Given the description of an element on the screen output the (x, y) to click on. 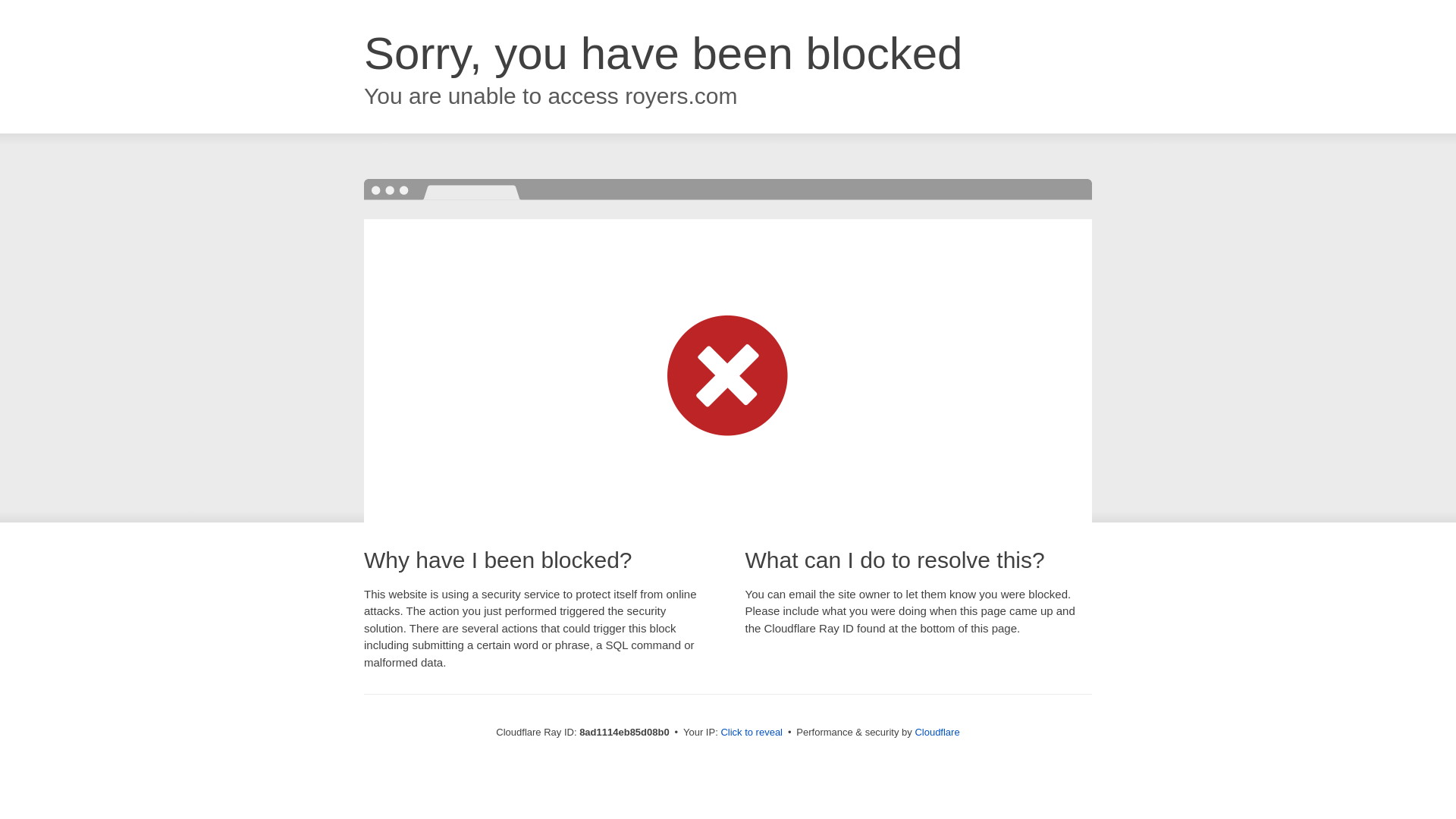
Cloudflare (936, 731)
Click to reveal (751, 732)
